Given the description of an element on the screen output the (x, y) to click on. 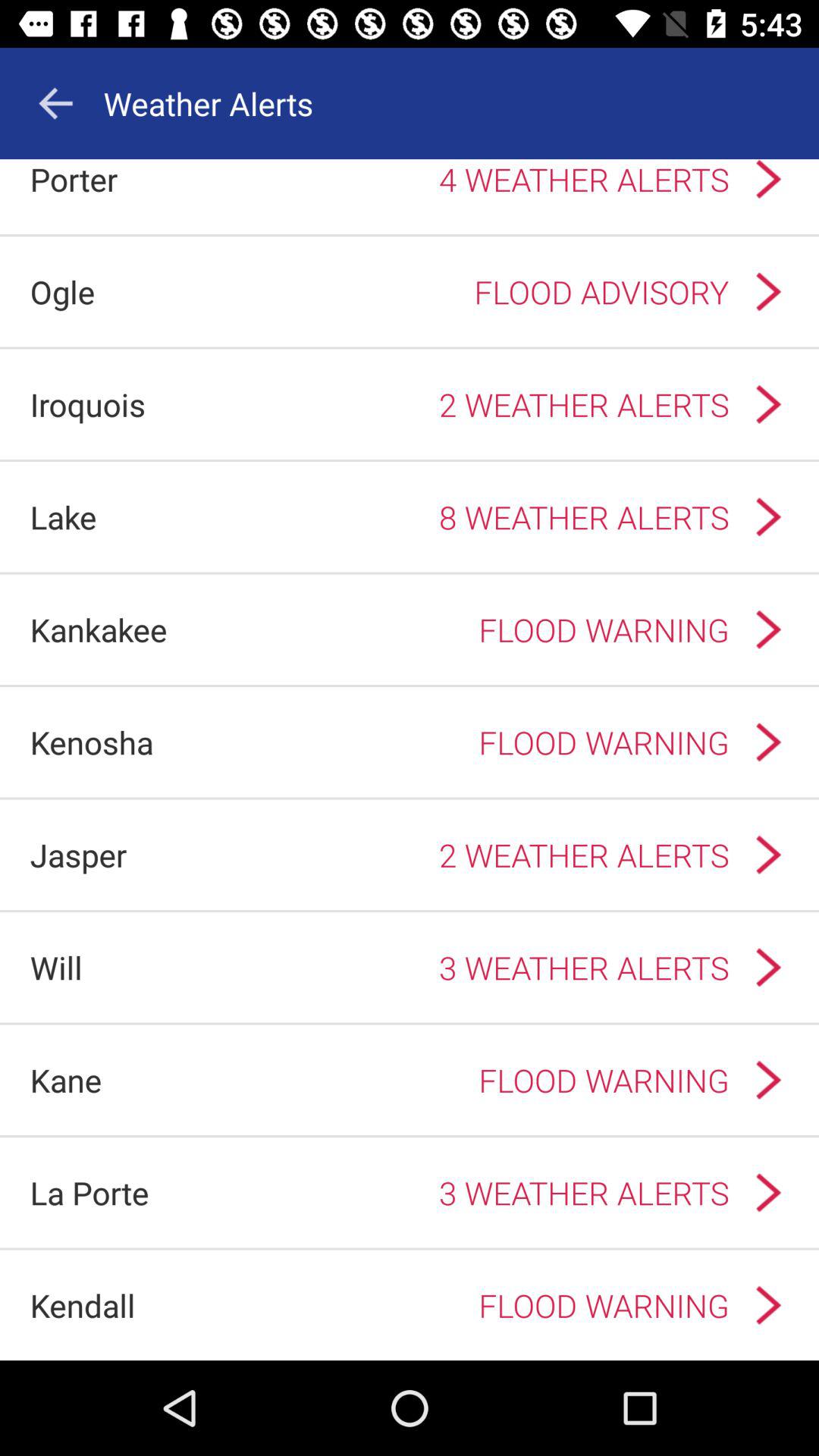
turn on app above the kankakee icon (63, 516)
